Given the description of an element on the screen output the (x, y) to click on. 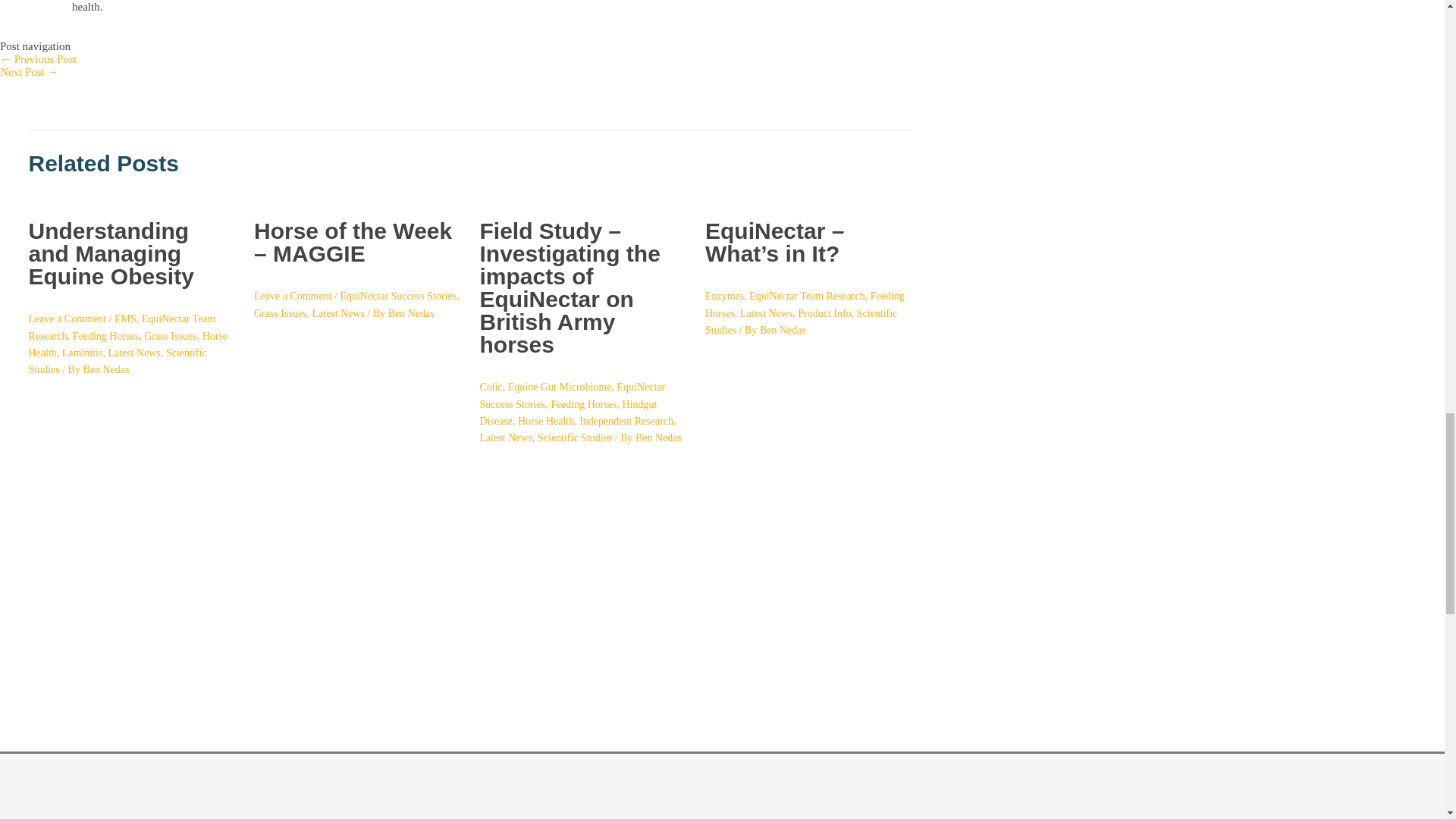
Understanding and Managing Equine Obesity (111, 253)
Leave a Comment (67, 318)
Latest News (133, 352)
Horse Health (128, 344)
View all posts by Ben Nedas (783, 329)
View all posts by Ben Nedas (657, 437)
Ben Nedas (105, 369)
Laminitis (82, 352)
Scientific Studies (117, 361)
The challenges of Autumn grazing (29, 71)
